Given the description of an element on the screen output the (x, y) to click on. 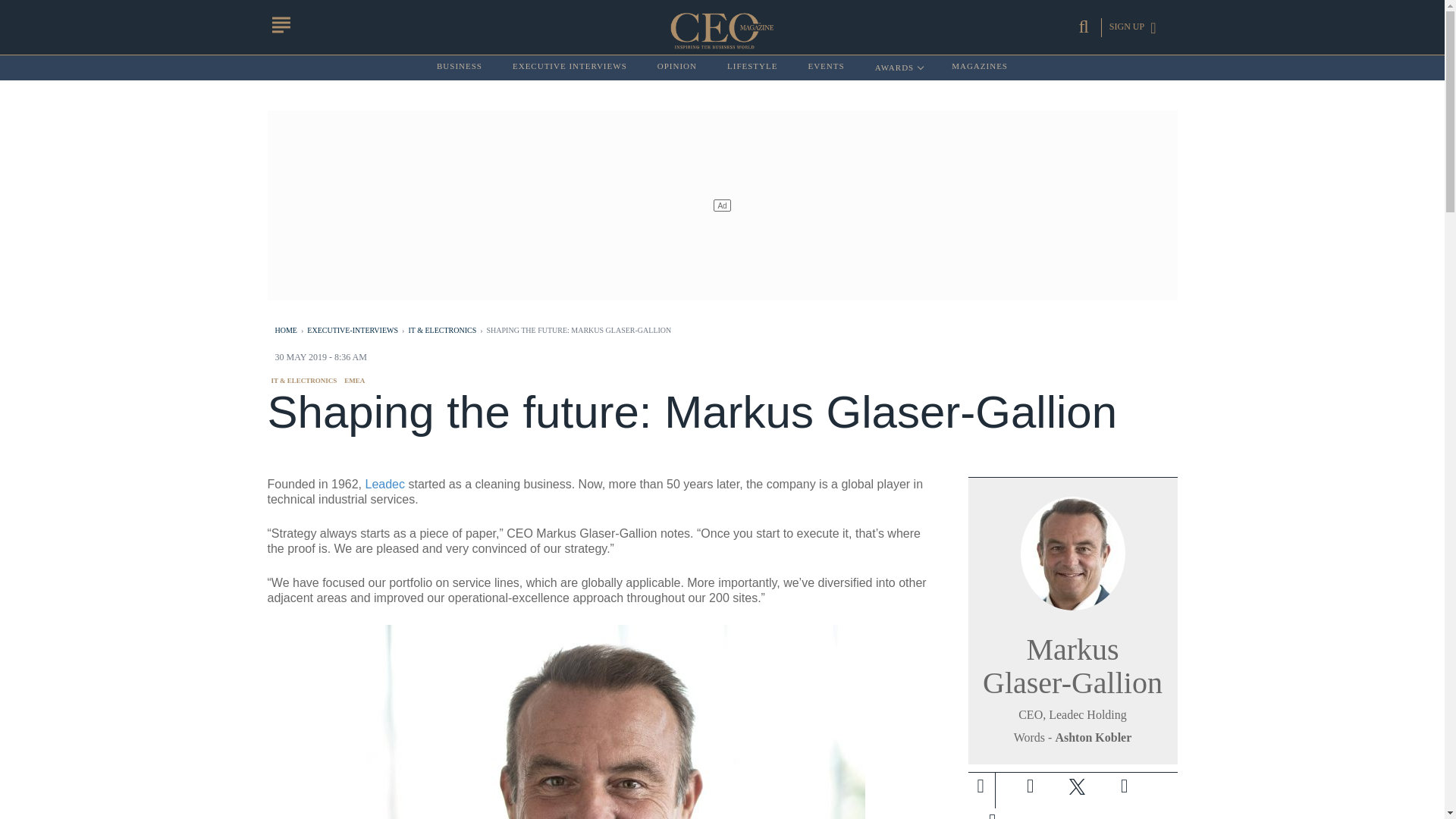
Executive Interviews (569, 66)
Leadec (385, 483)
EMEA (354, 380)
LIFESTYLE (751, 66)
Subscribe (991, 813)
BUSINESS (458, 66)
Share to Facebook (1029, 786)
EVENTS (826, 66)
EXECUTIVE INTERVIEWS (569, 66)
Opinion (677, 66)
OPINION (677, 66)
Sign-up (991, 813)
MAGAZINES (979, 66)
Share to Linkedin (1123, 786)
